Given the description of an element on the screen output the (x, y) to click on. 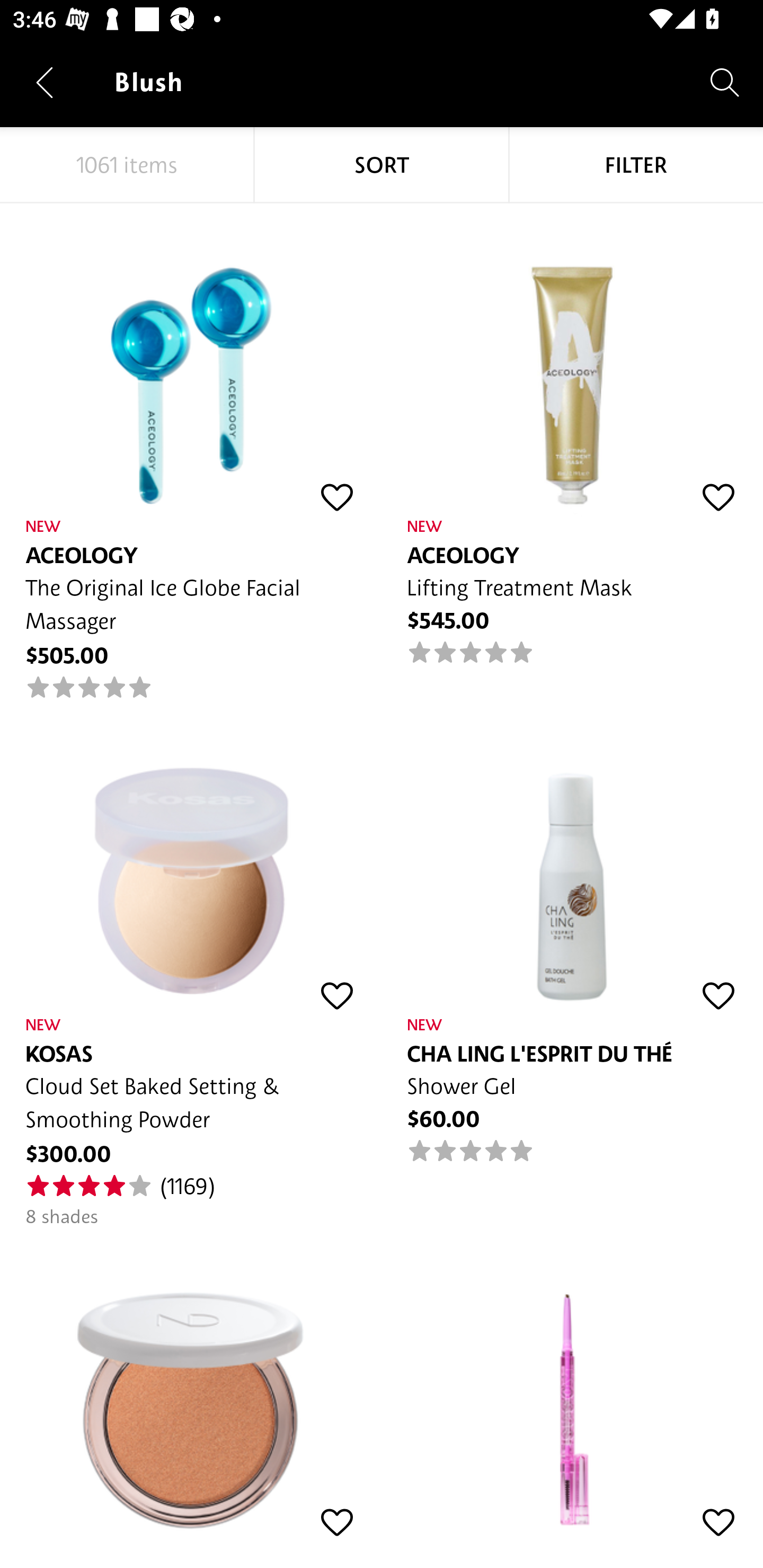
Navigate up (44, 82)
Search (724, 81)
SORT (381, 165)
FILTER (636, 165)
NEW ACEOLOGY Lifting Treatment Mask $545.00 (571, 434)
NEW CHA LING L'ESPRIT DU THÉ Shower Gel $60.00 (571, 933)
NEW NATASHA DENONA (190, 1384)
NEW KOSAS (571, 1384)
